Given the description of an element on the screen output the (x, y) to click on. 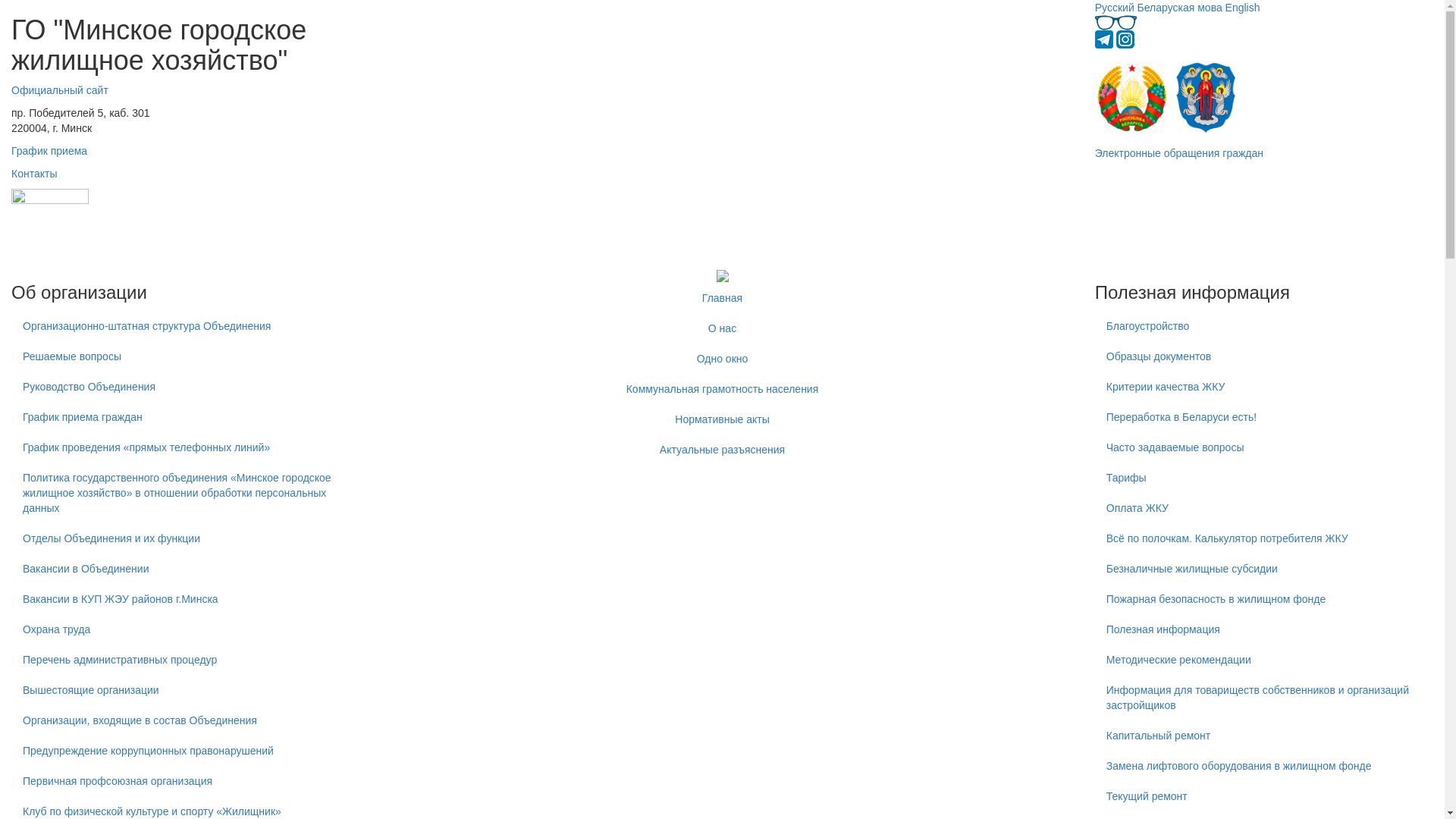
English Element type: text (1242, 7)
